Given the description of an element on the screen output the (x, y) to click on. 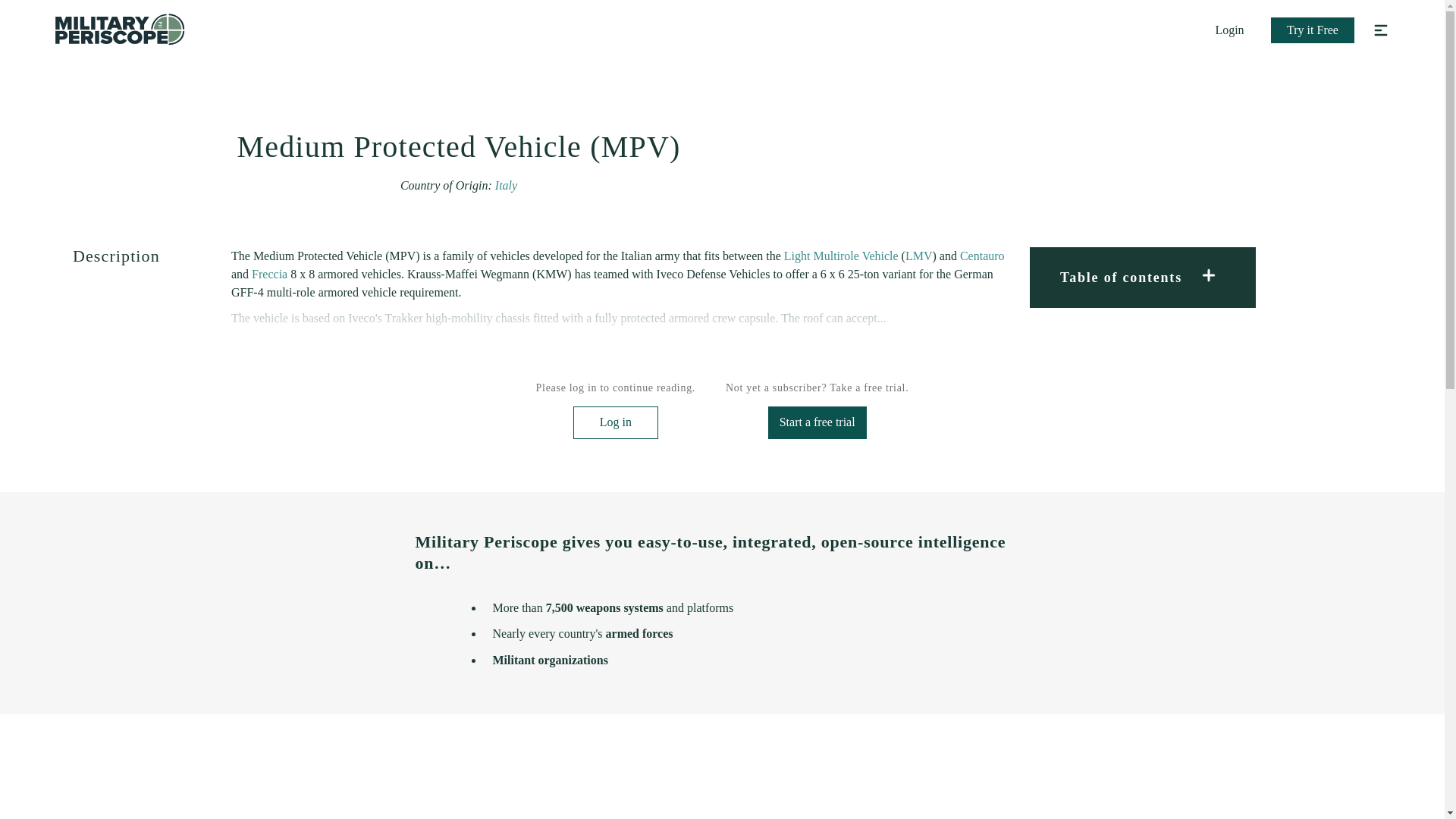
Start a free trial (817, 422)
Italy (505, 185)
LMV (919, 255)
Centauro (981, 255)
Login (1229, 30)
Log in (615, 422)
Freccia (268, 273)
Try it Free (1312, 30)
Light Multirole Vehicle (841, 255)
